Given the description of an element on the screen output the (x, y) to click on. 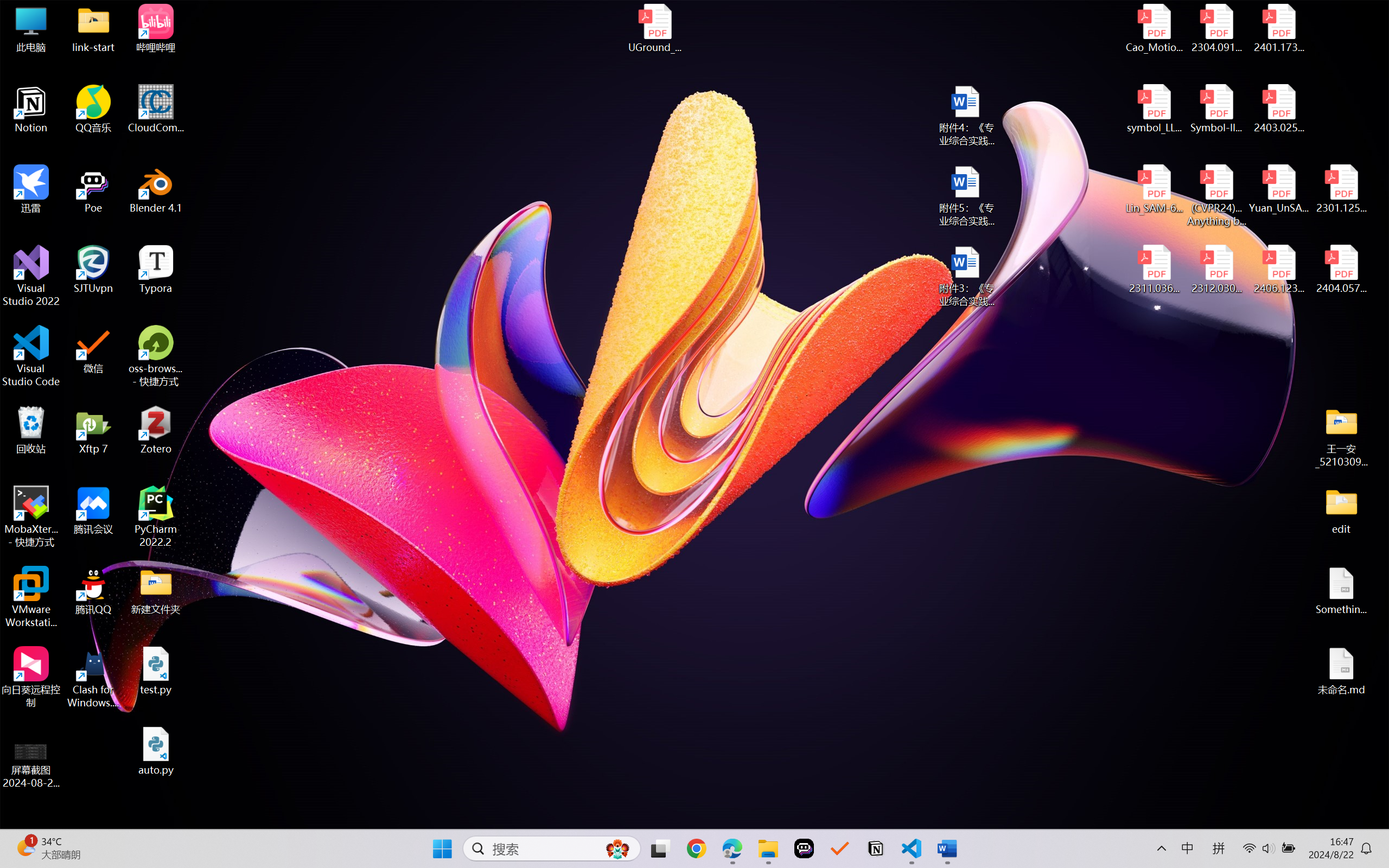
PyCharm 2022.2 (156, 516)
2304.09121v3.pdf (1216, 28)
Visual Studio Code (31, 355)
CloudCompare (156, 109)
2404.05719v1.pdf (1340, 269)
2301.12597v3.pdf (1340, 189)
